Given the description of an element on the screen output the (x, y) to click on. 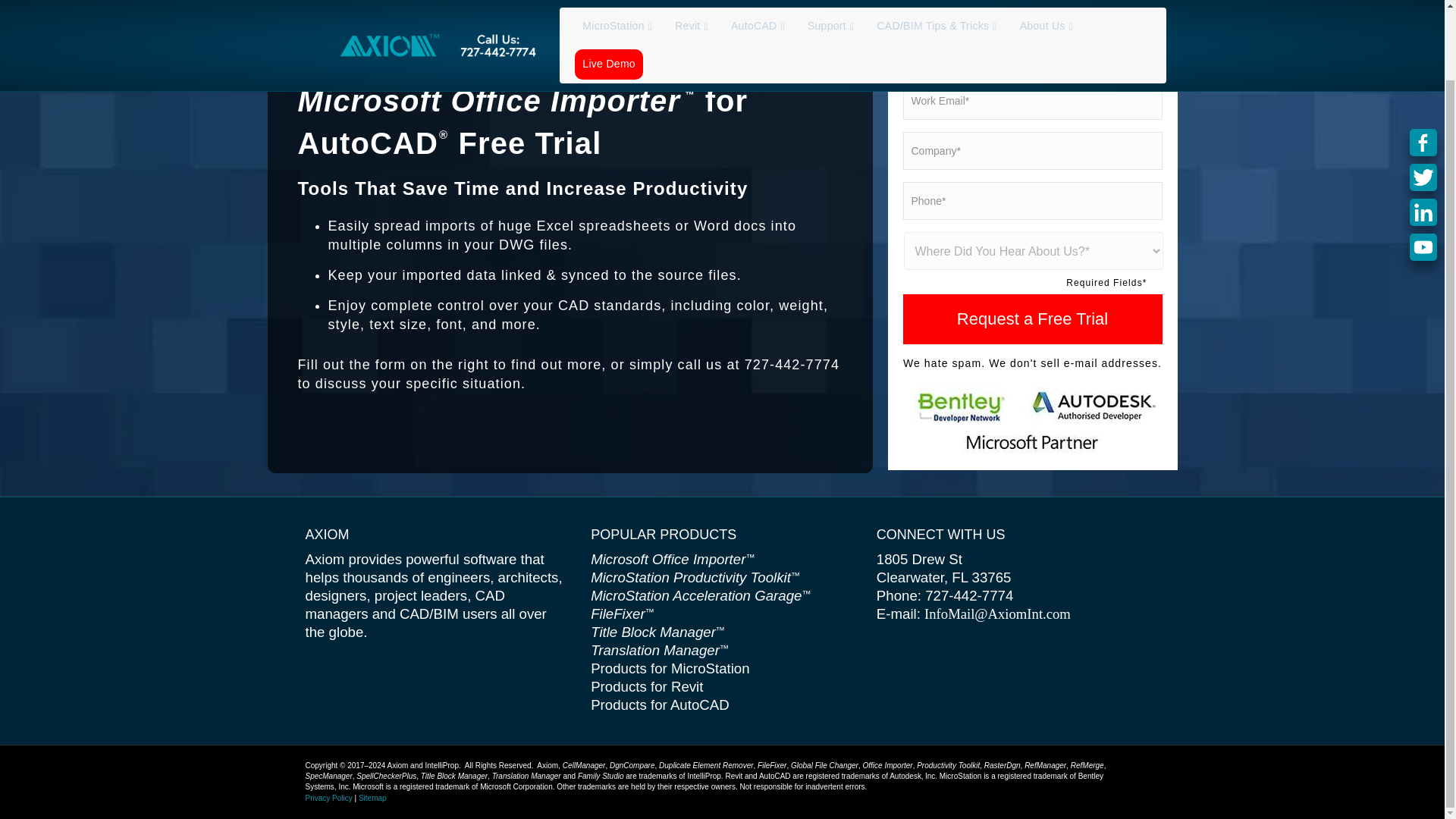
Sitemap (372, 797)
Request a Free Trial (1031, 318)
axiom-trust-logo (1031, 420)
Privacy Policy (328, 797)
